Given the description of an element on the screen output the (x, y) to click on. 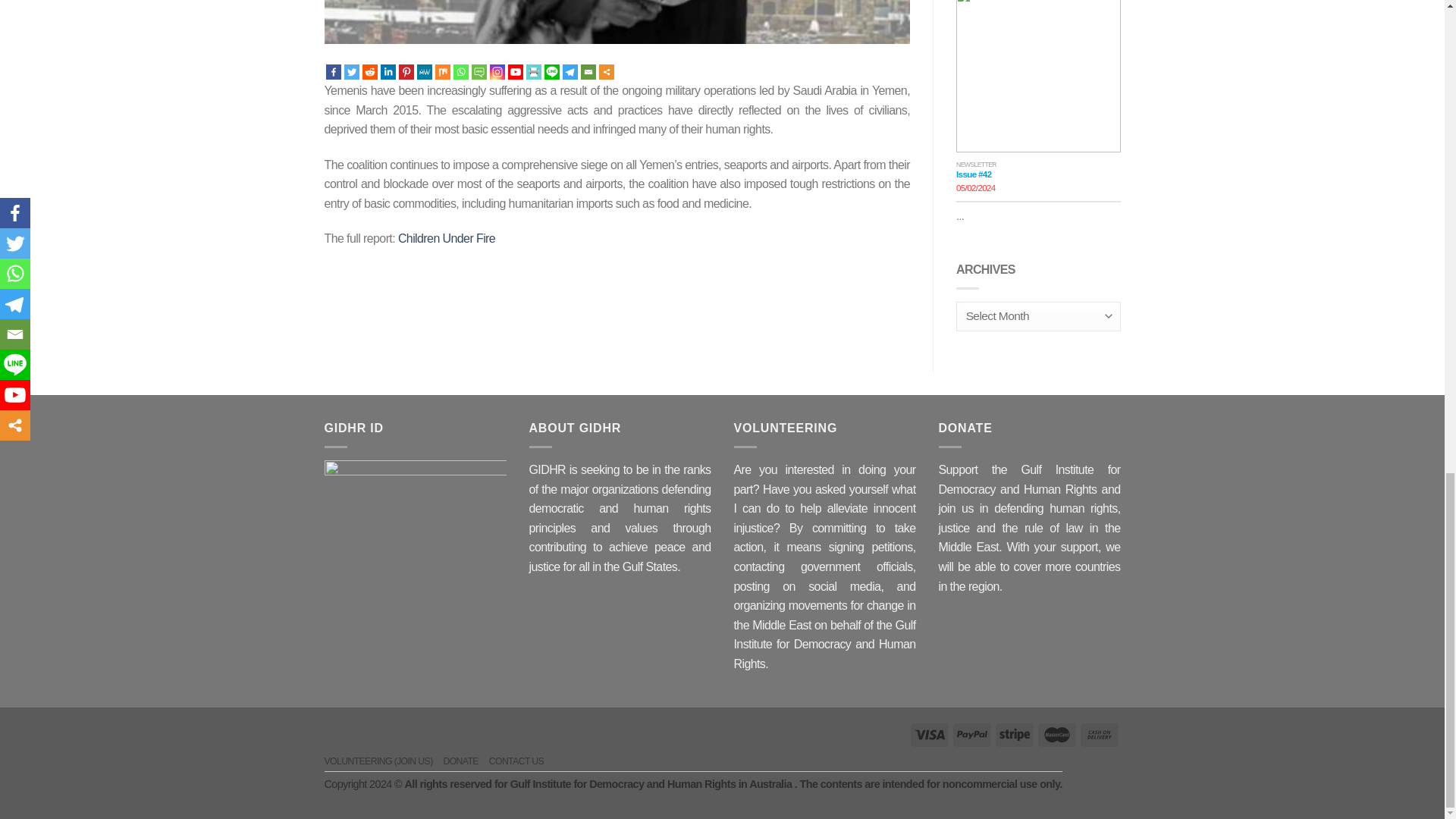
Facebook (333, 71)
Reddit (369, 71)
Linkedin (388, 71)
Twitter (351, 71)
